Given the description of an element on the screen output the (x, y) to click on. 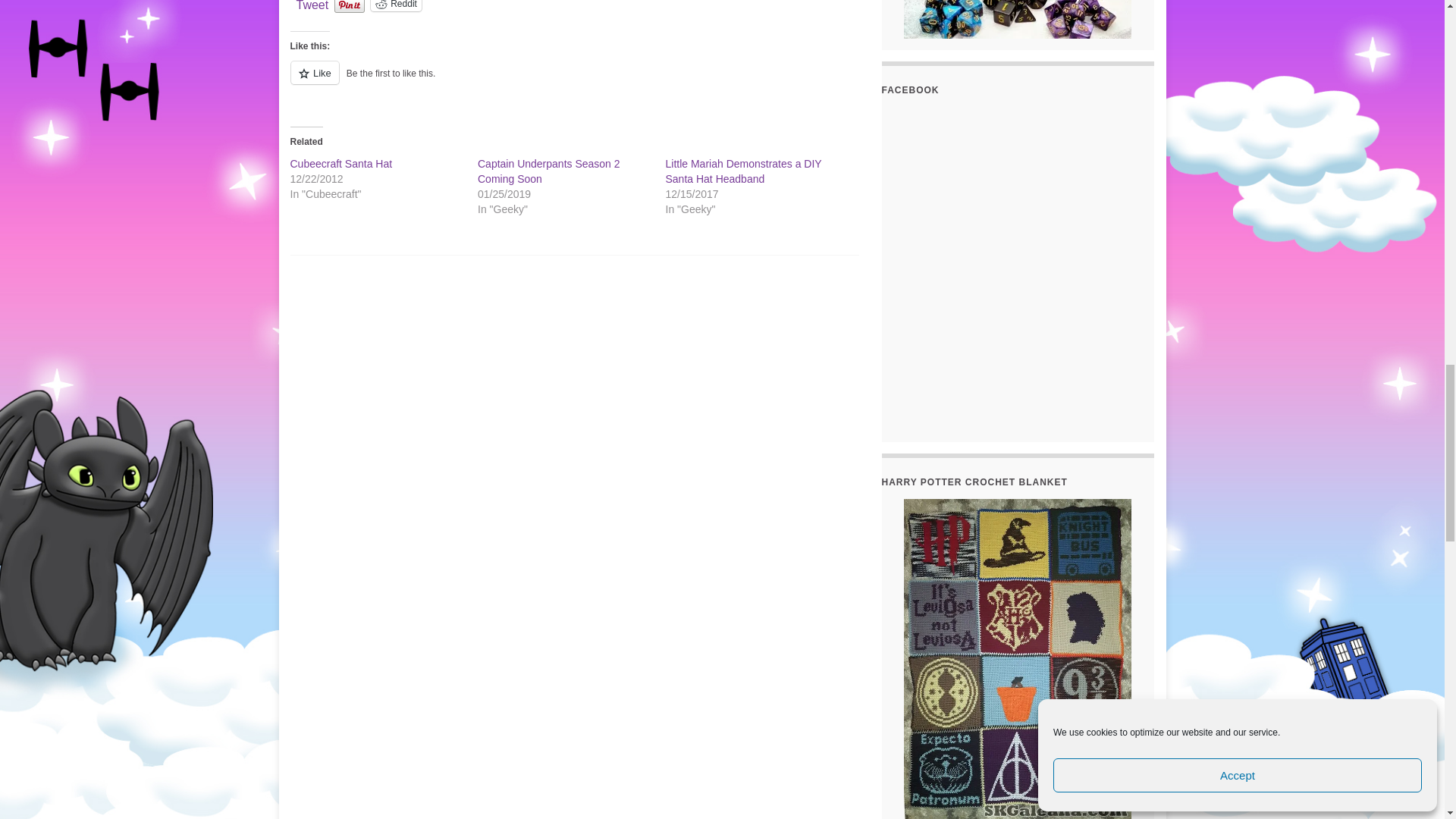
Click to share on Reddit (396, 5)
Cubeecraft Santa Hat (340, 163)
Captain Underpants Season 2 Coming Soon (548, 171)
Little Mariah Demonstrates a DIY Santa Hat Headband (743, 171)
Like or Reblog (574, 81)
